Given the description of an element on the screen output the (x, y) to click on. 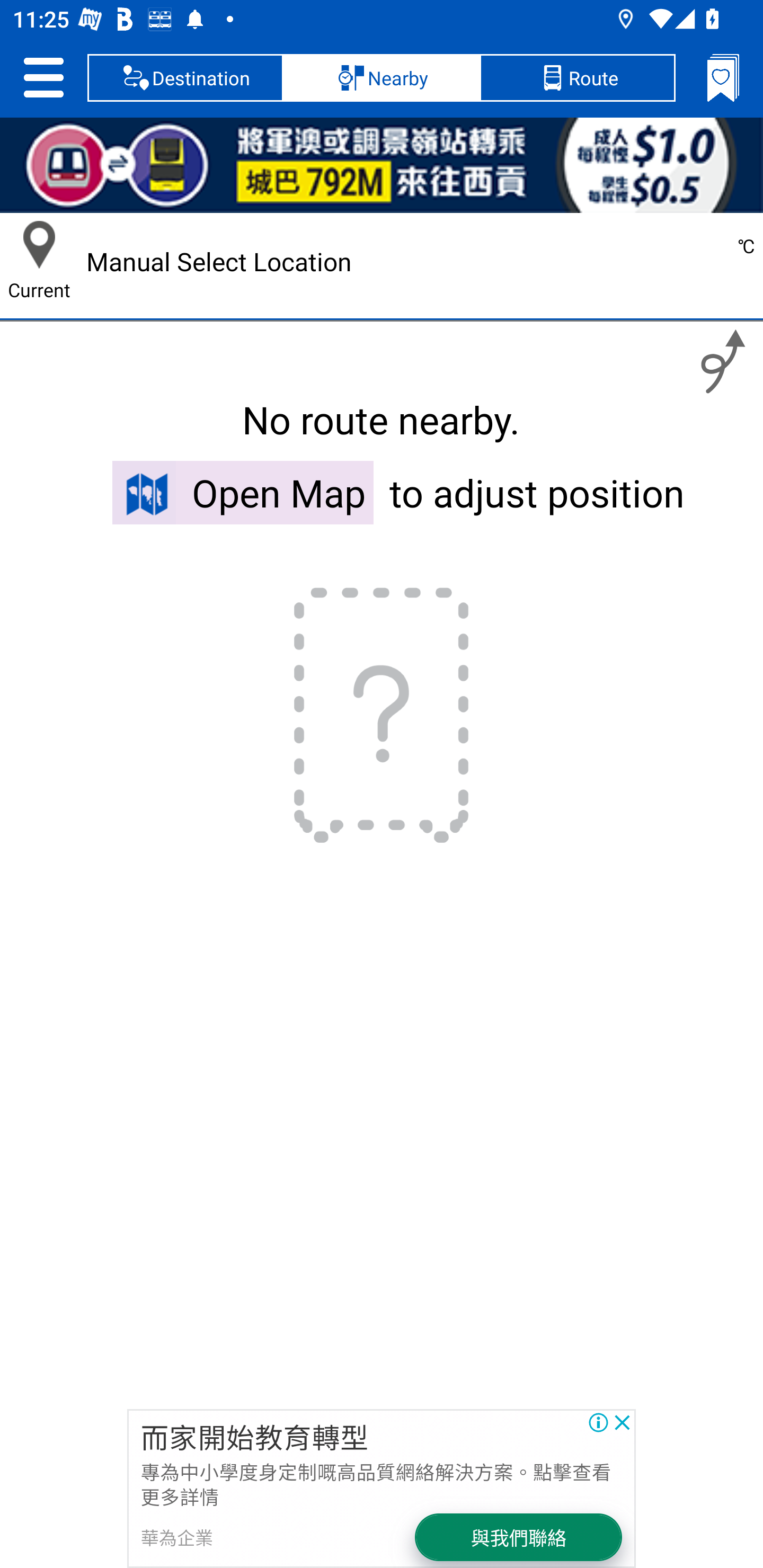
Destination (185, 77)
Nearby, selected (381, 77)
Route (577, 77)
Bookmarks (723, 77)
Setting (43, 77)
792M BRI (381, 165)
Current Location Current Manual Select Location ℃ (381, 261)
Current Location (38, 244)
℃ (683, 261)
Open Map (242, 491)
而家開始教育轉型 (254, 1435)
與我們聯絡 (519, 1537)
華為企業 (176, 1537)
